Given the description of an element on the screen output the (x, y) to click on. 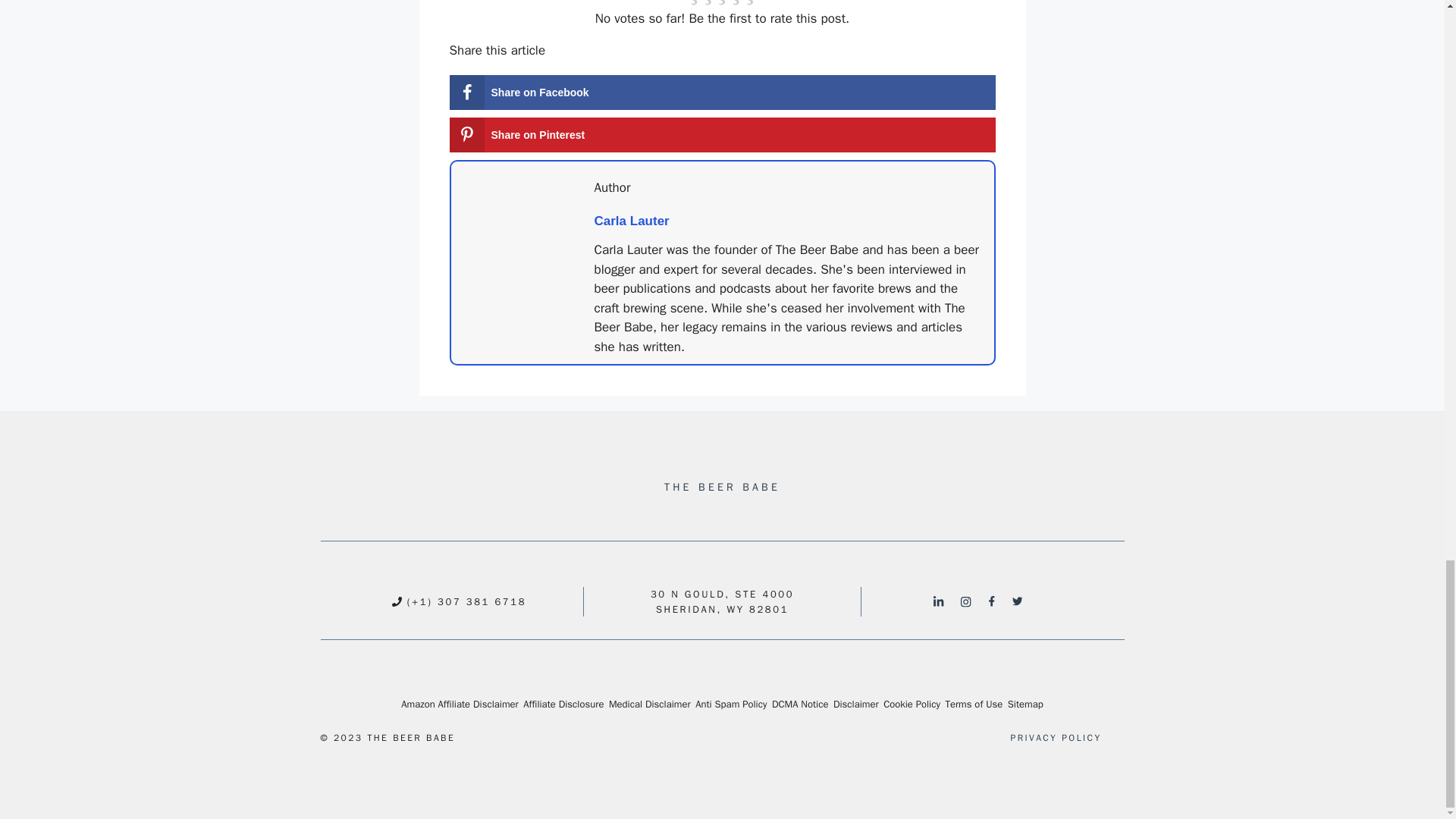
Share on Pinterest (721, 134)
DCMA Notice (799, 703)
Affiliate Disclosure (563, 703)
Share on Facebook (721, 92)
Share on Facebook (721, 92)
Carla Lauter (631, 220)
Anti Spam Policy (731, 703)
Terms of Use (973, 703)
Disclaimer (855, 703)
Amazon Affiliate Disclaimer (459, 703)
Save to Pinterest (721, 134)
Cookie Policy (911, 703)
Medical Disclaimer (649, 703)
Sitemap (1025, 703)
